Given the description of an element on the screen output the (x, y) to click on. 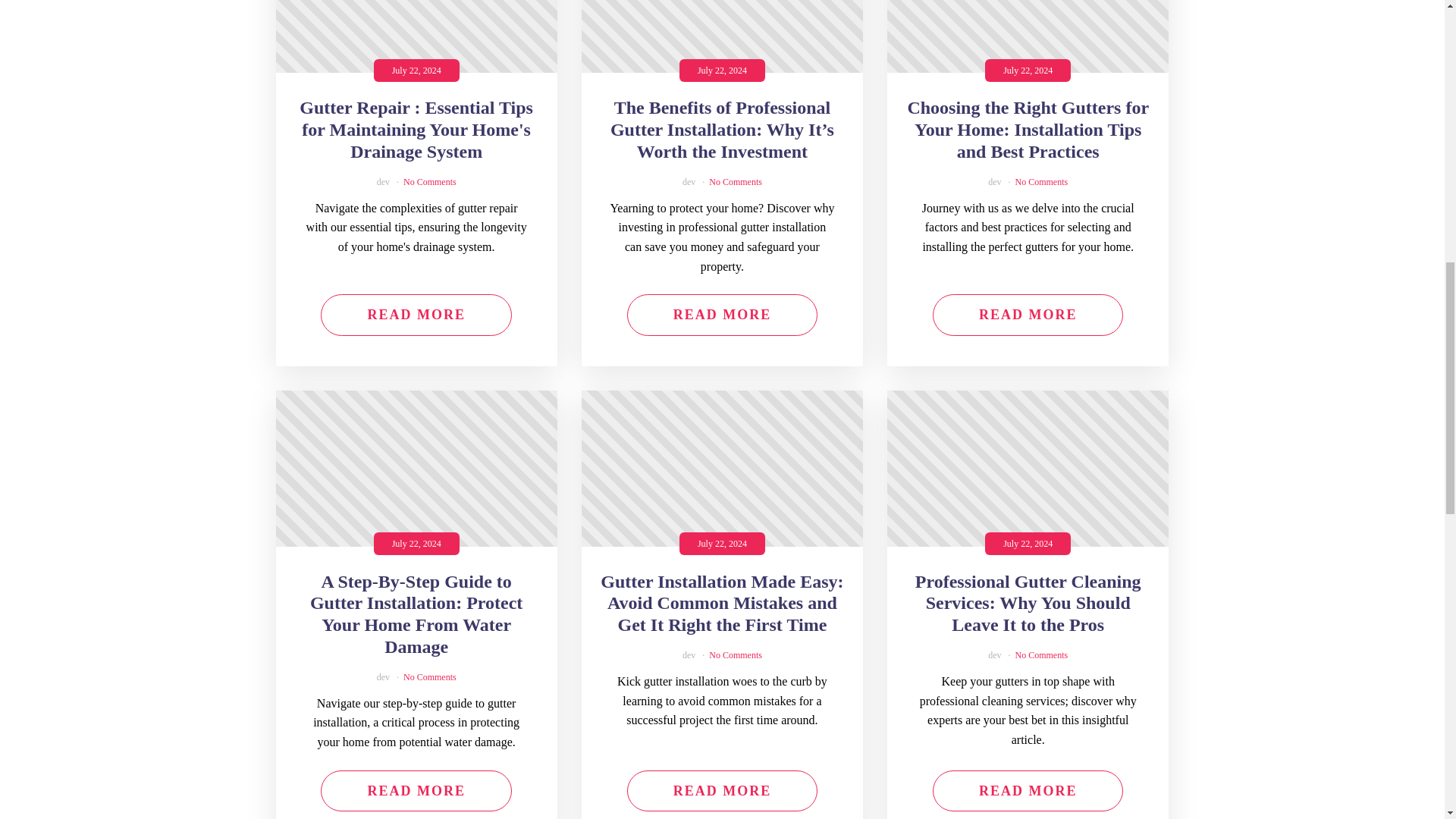
No Comments (430, 181)
July 22, 2024 (416, 36)
